Given the description of an element on the screen output the (x, y) to click on. 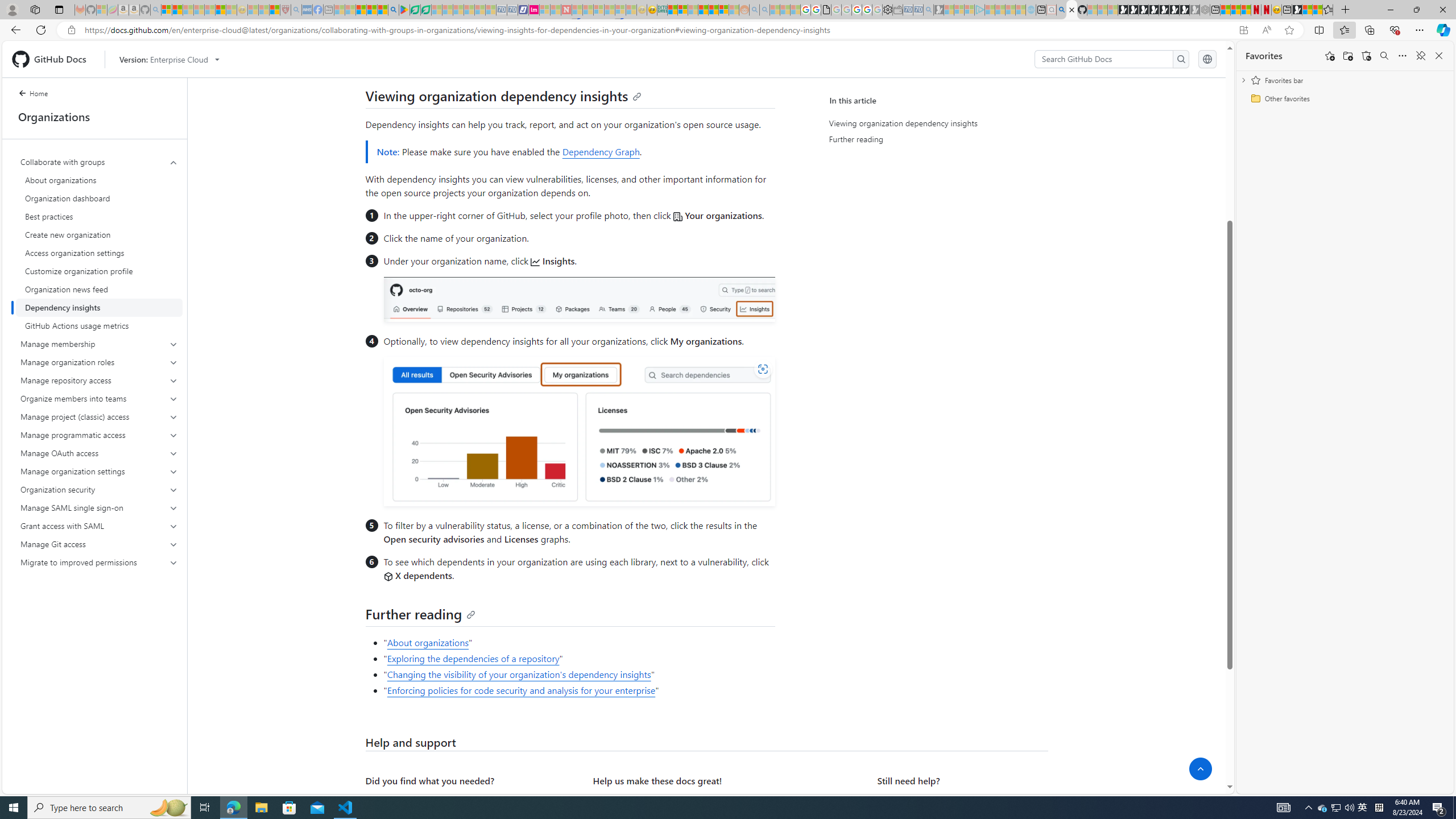
Organize members into teams (99, 398)
Setting up a trial of GitHub Enterprise Cloud (468, 56)
Access organization settings (99, 253)
Manage OAuth access (99, 452)
Organization security (99, 489)
Further reading (420, 613)
Kinda Frugal - MSN (713, 9)
Organization dashboard (99, 198)
Local - MSN (274, 9)
Viewing organization dependency insights (503, 95)
Manage repository access (99, 380)
Pets - MSN (371, 9)
